Given the description of an element on the screen output the (x, y) to click on. 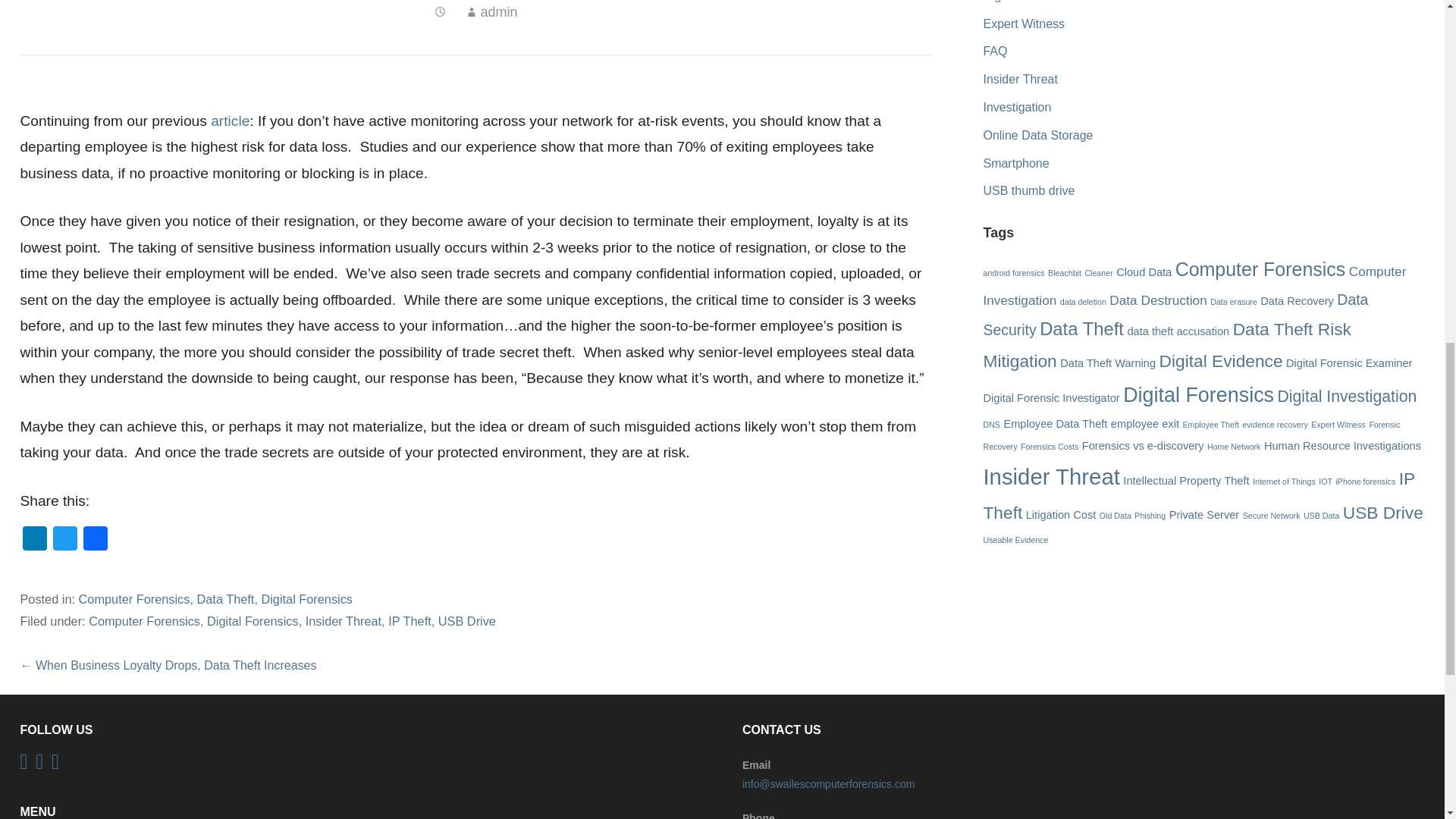
admin (498, 11)
Expert Witness (1023, 23)
Computer Forensics (144, 621)
Twitter (64, 540)
Posts by admin (498, 11)
article (229, 120)
LinkedIn (34, 540)
Digital Forensics (1026, 1)
Digital Forensics (252, 621)
Facebook (95, 540)
Facebook (95, 540)
Computer Forensics (134, 599)
LinkedIn (34, 540)
Insider Threat (343, 621)
